Given the description of an element on the screen output the (x, y) to click on. 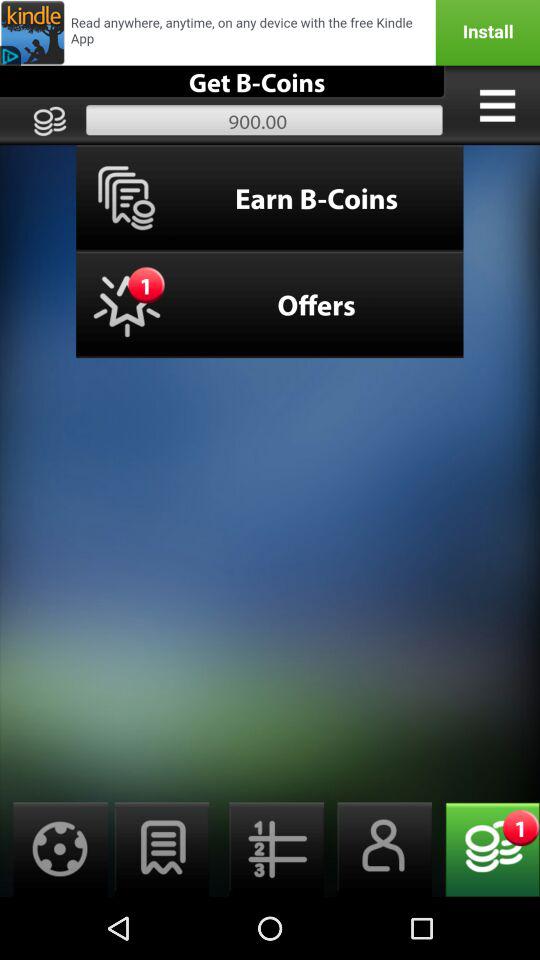
open (161, 849)
